Given the description of an element on the screen output the (x, y) to click on. 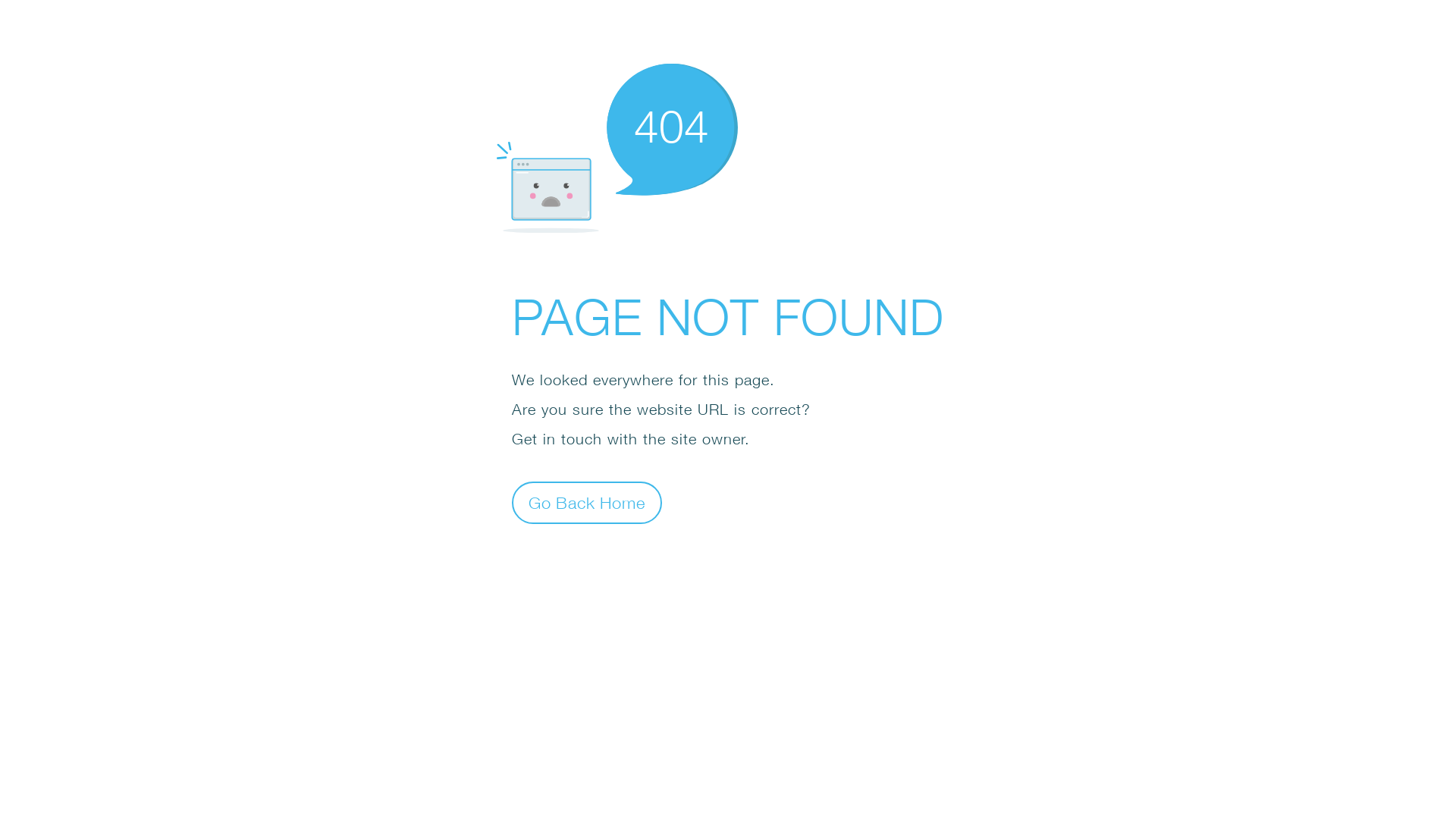
Go Back Home Element type: text (586, 502)
